Given the description of an element on the screen output the (x, y) to click on. 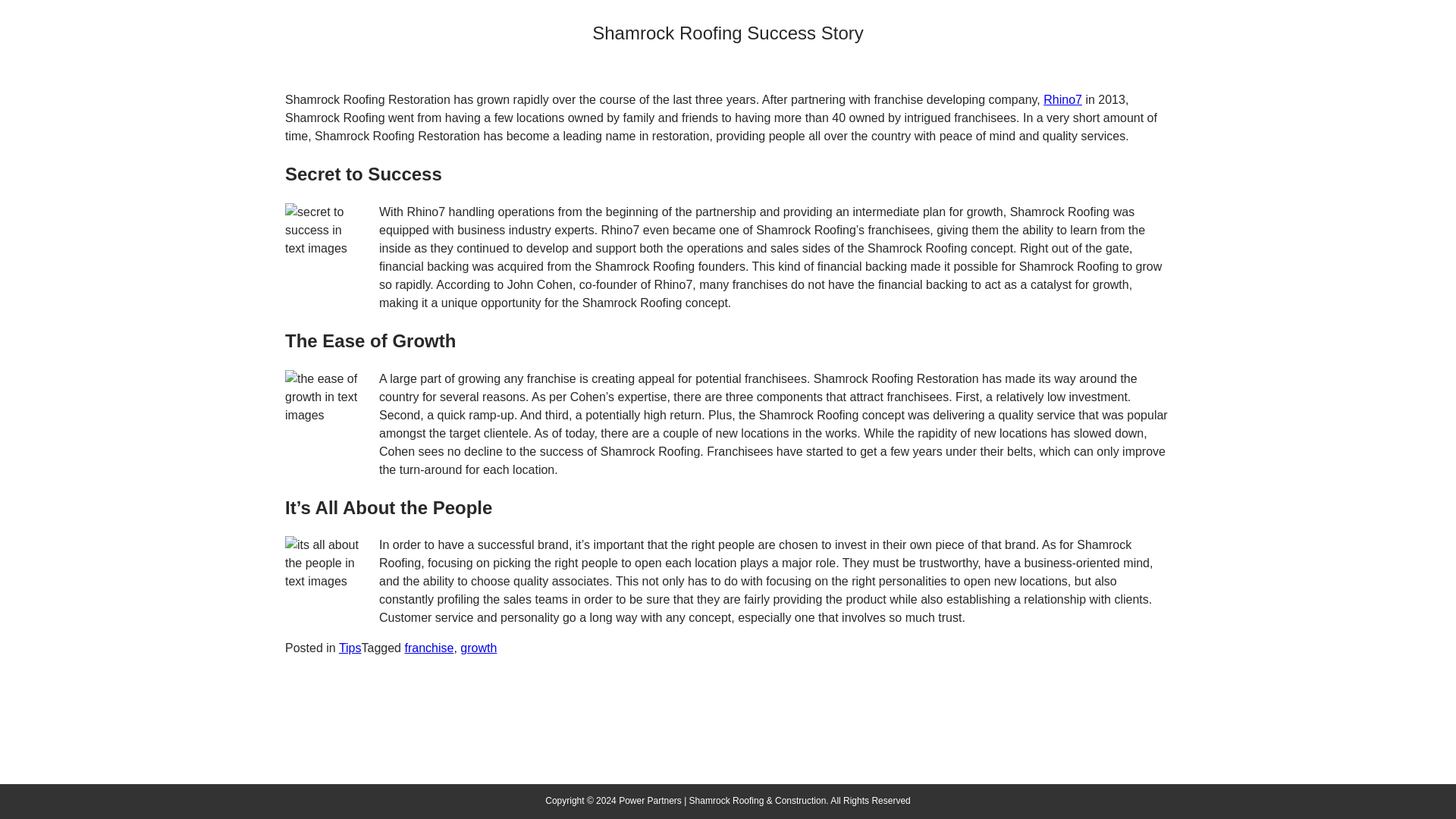
Tips (350, 647)
growth (478, 647)
Rhino7 (1062, 99)
franchise (428, 647)
